Given the description of an element on the screen output the (x, y) to click on. 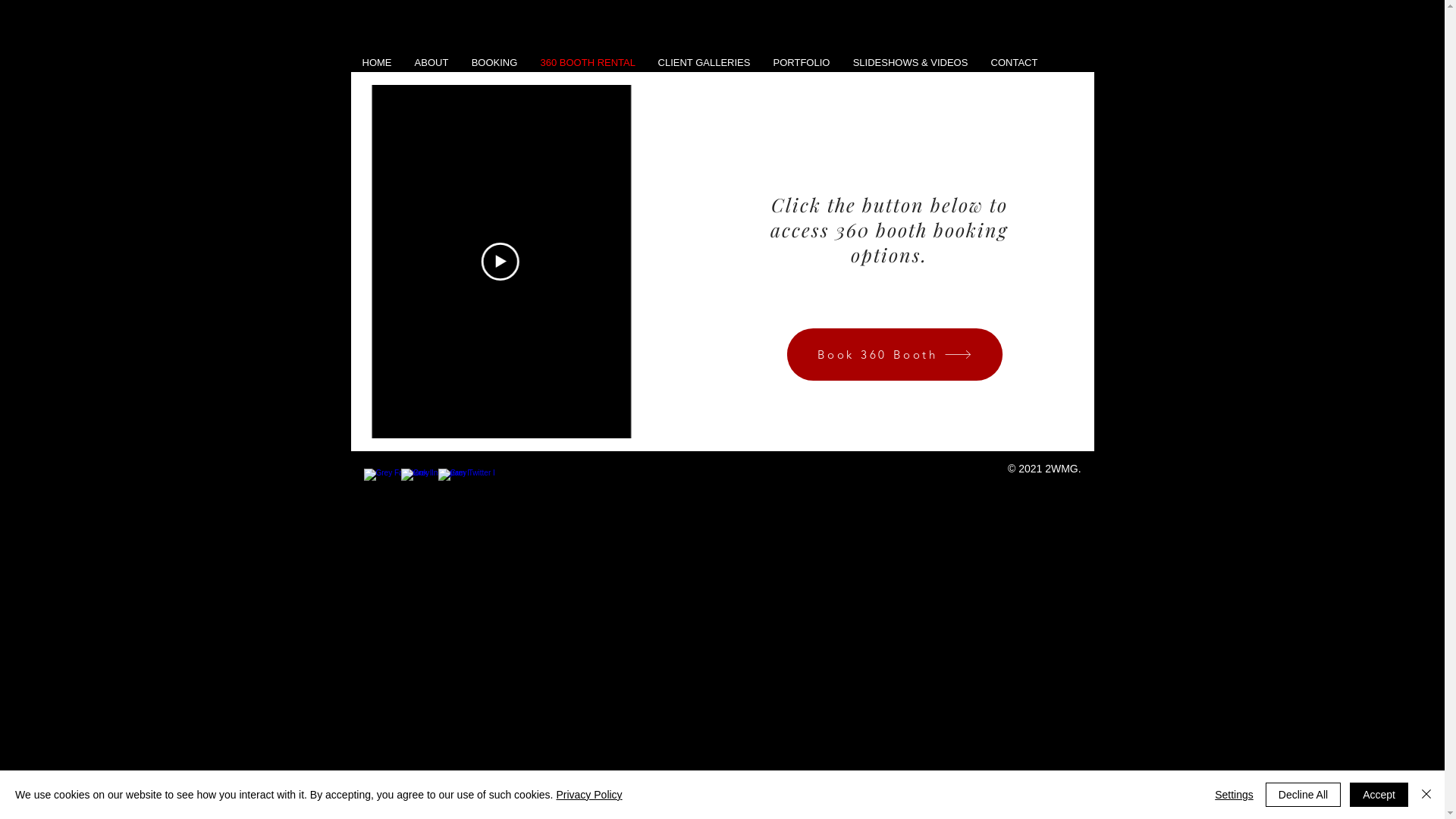
Privacy Policy Element type: text (588, 794)
Accept Element type: text (1378, 794)
PORTFOLIO Element type: text (800, 62)
Book 360 Booth Element type: text (865, 347)
ABOUT Element type: text (431, 62)
BOOKING Element type: text (493, 62)
360 BOOTH RENTAL Element type: text (587, 62)
CONTACT Element type: text (1014, 62)
Decline All Element type: text (1302, 794)
CLIENT GALLERIES Element type: text (703, 62)
SLIDESHOWS & VIDEOS Element type: text (910, 62)
HOME Element type: text (376, 62)
